Given the description of an element on the screen output the (x, y) to click on. 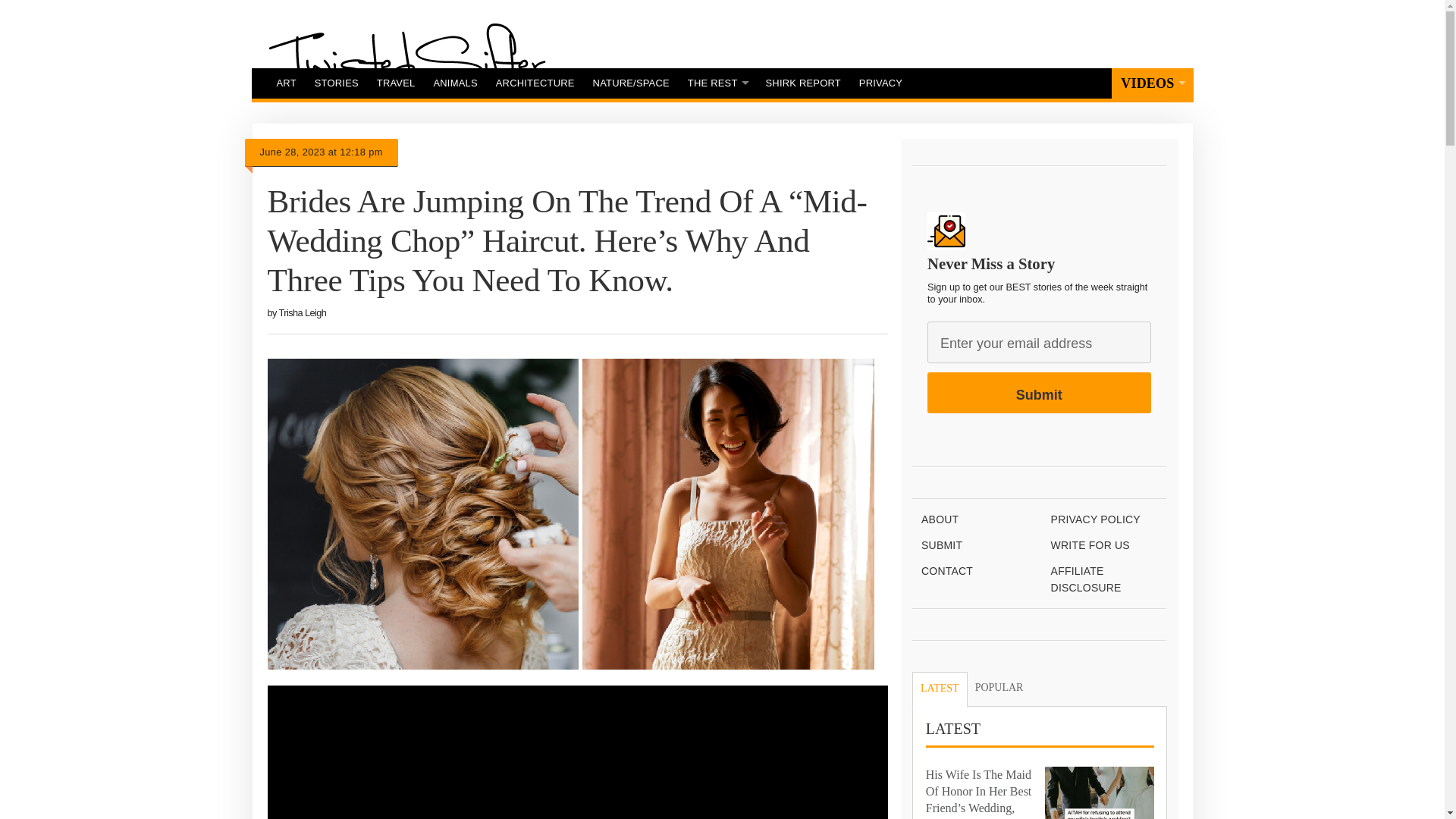
ART (285, 82)
ANIMALS (454, 82)
SHIRK REPORT (803, 82)
Submit (1038, 392)
VIDEOS (1152, 82)
TRAVEL (396, 82)
PRIVACY (880, 82)
Home (406, 59)
THE REST (717, 82)
ARCHITECTURE (534, 82)
STORIES (336, 82)
